Given the description of an element on the screen output the (x, y) to click on. 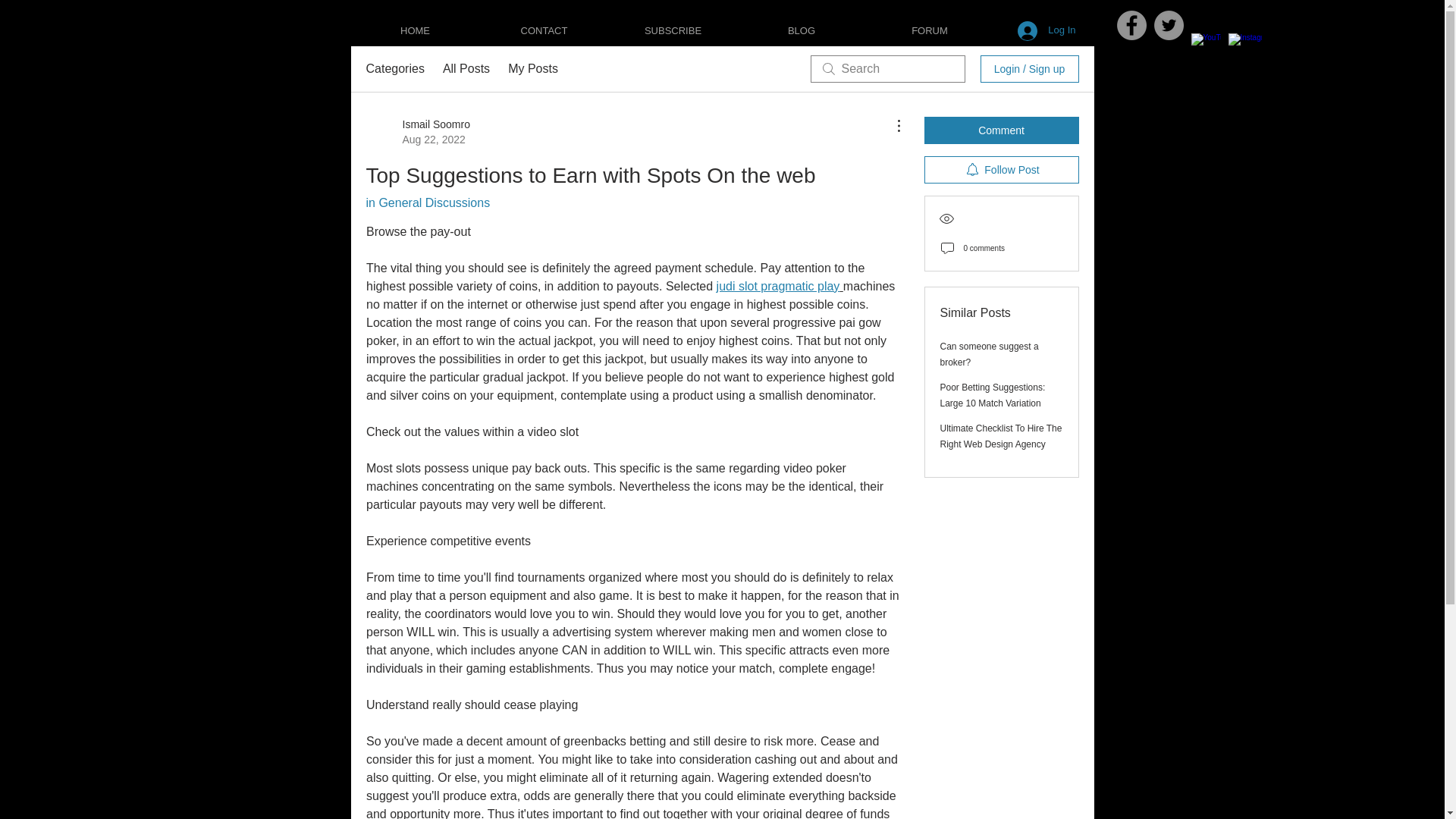
Poor Betting Suggestions: Large 10 Match Variation (992, 395)
All Posts (465, 68)
judi slot pragmatic play (778, 286)
Ultimate Checklist To Hire The Right Web Design Agency (1001, 436)
BLOG (801, 30)
Follow Post (1000, 169)
My Posts (532, 68)
Categories (394, 68)
CONTACT (544, 30)
HOME (415, 30)
